Given the description of an element on the screen output the (x, y) to click on. 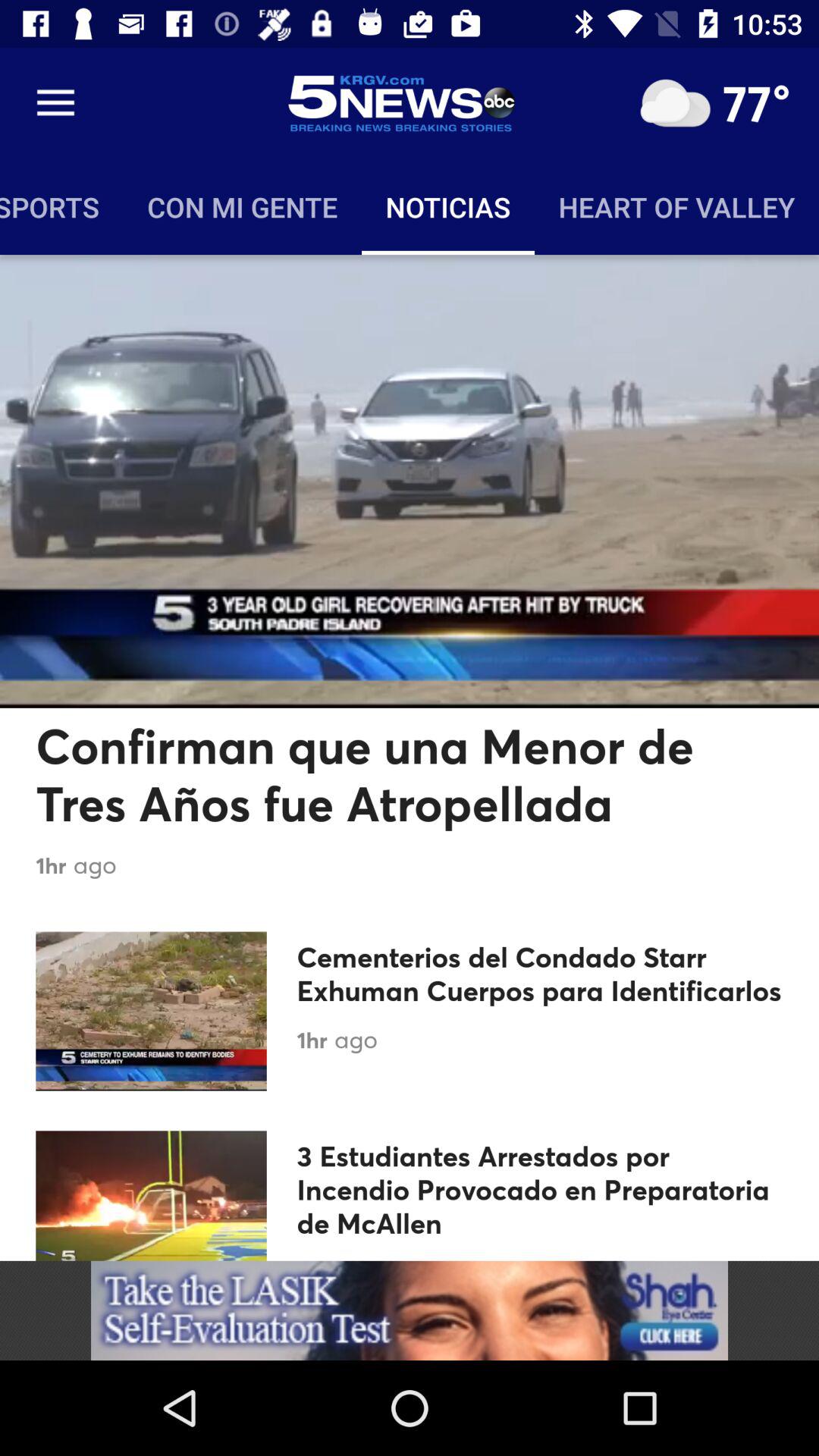
lasik advertisement link (409, 1310)
